Given the description of an element on the screen output the (x, y) to click on. 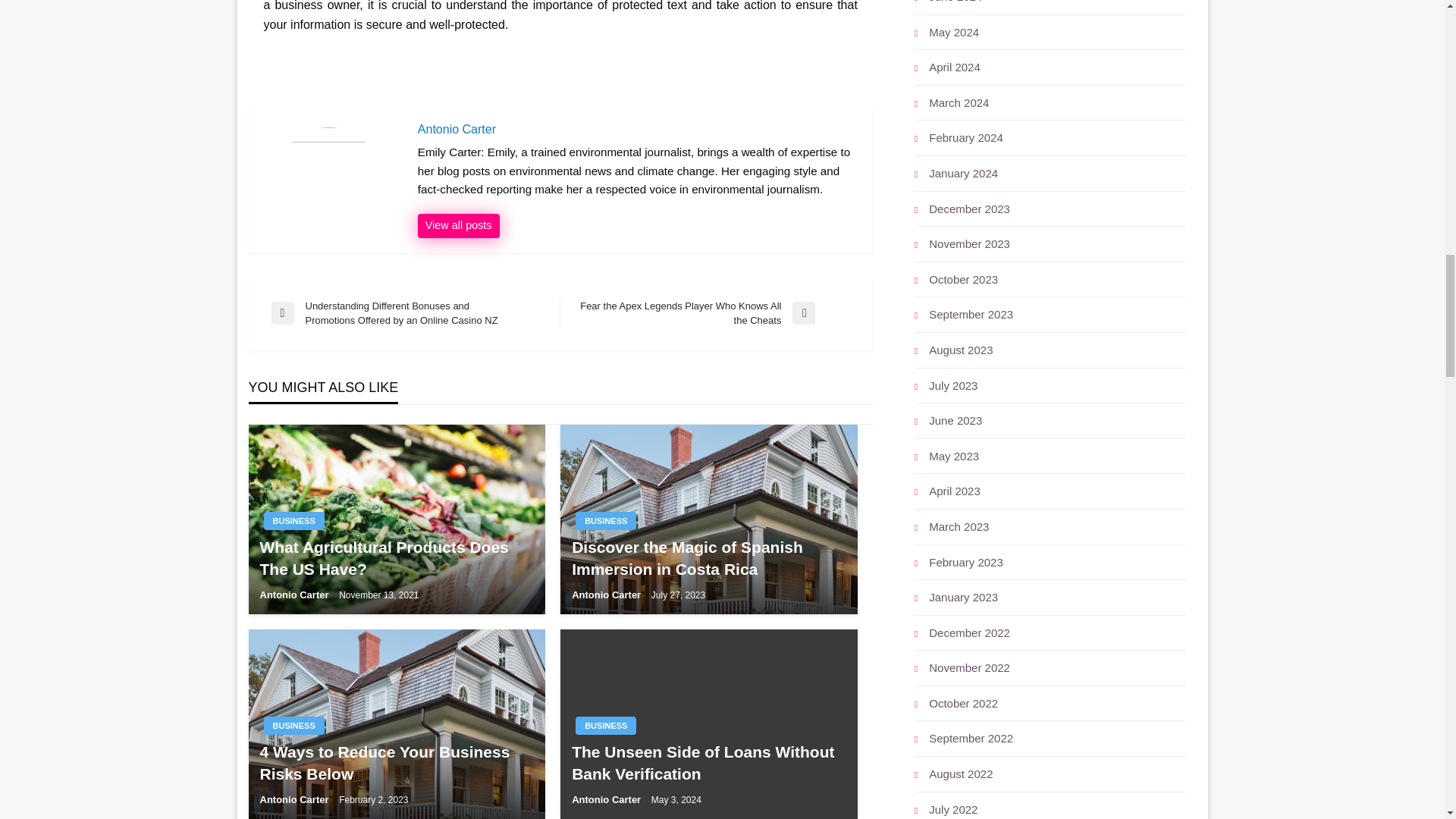
View all posts (458, 225)
Discover the Magic of Spanish Immersion in Costa Rica (708, 558)
Antonio Carter (637, 129)
BUSINESS (605, 725)
Antonio Carter (637, 129)
The Unseen Side of Loans Without Bank Verification (708, 763)
4 Ways to Reduce Your Business Risks Below (396, 763)
Antonio Carter (295, 594)
Antonio Carter (458, 225)
BUSINESS (605, 520)
BUSINESS (293, 520)
Antonio Carter (607, 594)
BUSINESS (293, 725)
